Given the description of an element on the screen output the (x, y) to click on. 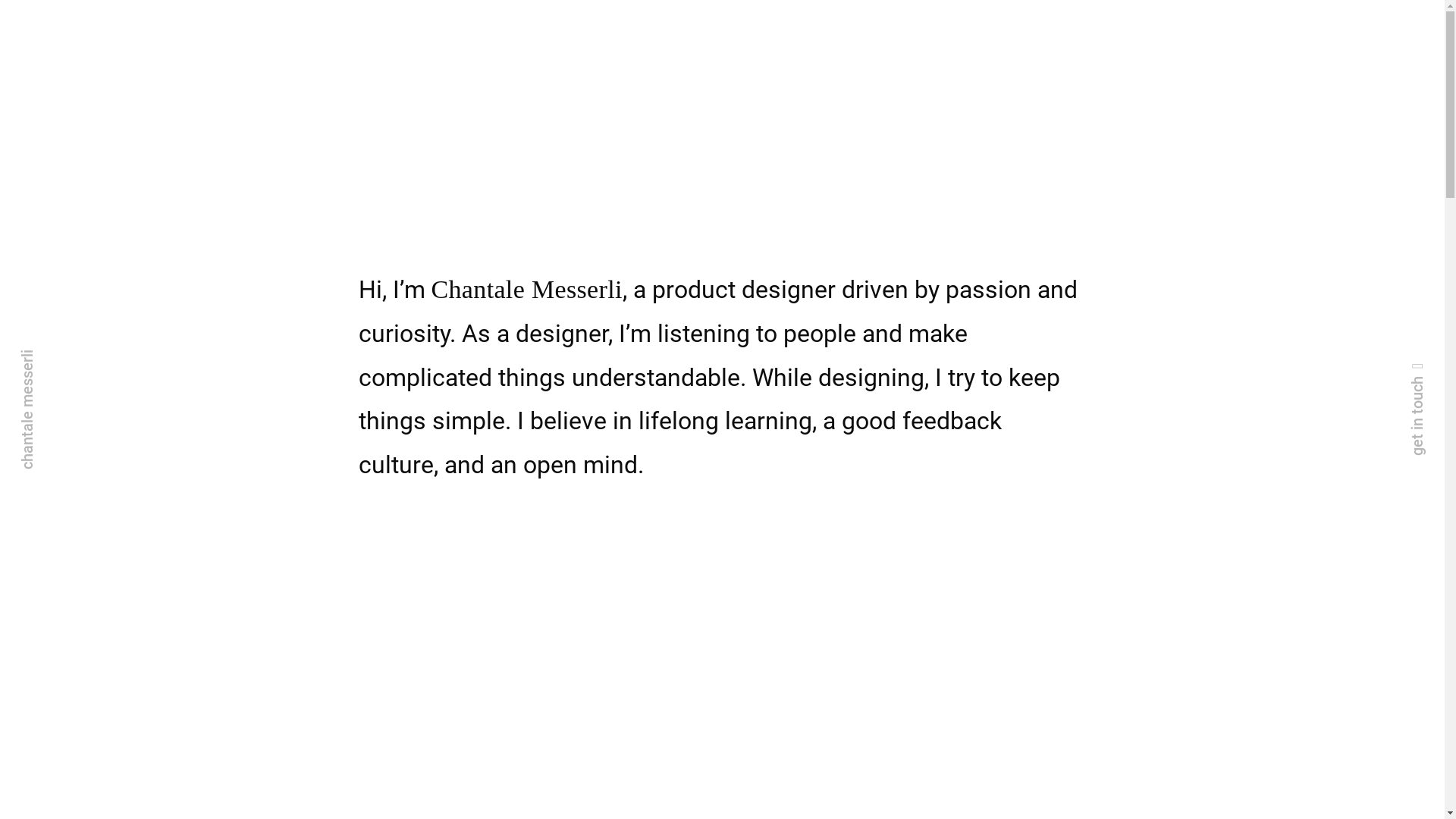
chantale messerli Element type: text (78, 358)
